Given the description of an element on the screen output the (x, y) to click on. 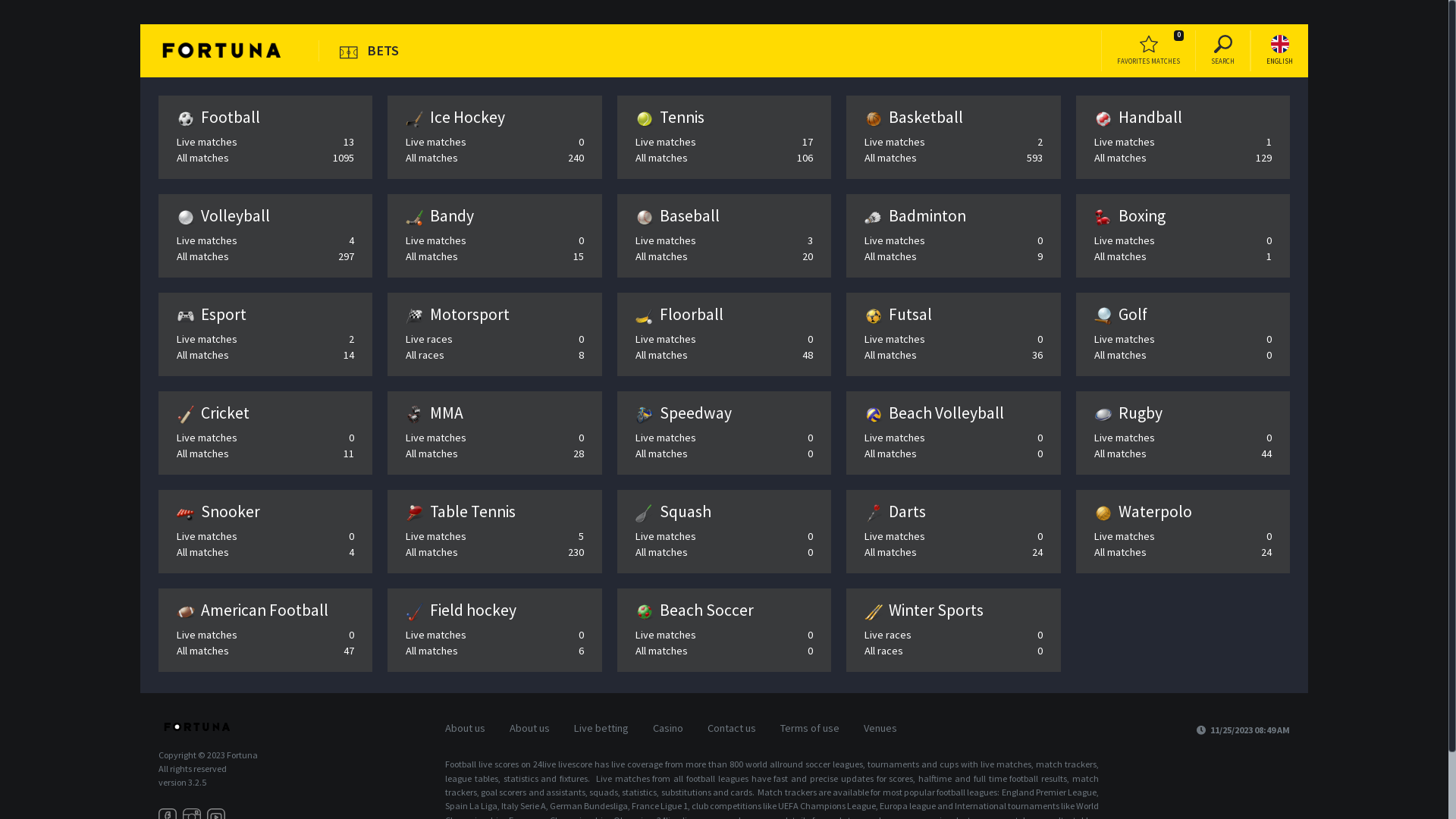
Baseball
Live matches
3
All matches
20 Element type: text (724, 235)
Venues Element type: text (880, 728)
Live betting Element type: text (600, 728)
ENGLISH Element type: text (1279, 50)
Handball
Live matches
1
All matches
129 Element type: text (1182, 136)
Snooker
Live matches
0
All matches
4 Element type: text (265, 531)
Golf
Live matches
0
All matches
0 Element type: text (1182, 334)
Badminton
Live matches
0
All matches
9 Element type: text (953, 235)
American Football
Live matches
0
All matches
47 Element type: text (265, 629)
Casino Element type: text (667, 728)
Speedway
Live matches
0
All matches
0 Element type: text (724, 432)
Football
Live matches
13
All matches
1095 Element type: text (265, 136)
Waterpolo
Live matches
0
All matches
24 Element type: text (1182, 531)
Cricket
Live matches
0
All matches
11 Element type: text (265, 432)
SEARCH Element type: text (1222, 50)
Beach Soccer
Live matches
0
All matches
0 Element type: text (724, 629)
About us Element type: text (465, 728)
Futsal
Live matches
0
All matches
36 Element type: text (953, 334)
MMA
Live matches
0
All matches
28 Element type: text (494, 432)
Contact us Element type: text (731, 728)
Basketball
Live matches
2
All matches
593 Element type: text (953, 136)
Bandy
Live matches
0
All matches
15 Element type: text (494, 235)
FAVORITES MATCHES
0 Element type: text (1148, 50)
About us Element type: text (529, 728)
Ice Hockey
Live matches
0
All matches
240 Element type: text (494, 136)
Winter Sports
Live races
0
All races
0 Element type: text (953, 629)
Volleyball
Live matches
4
All matches
297 Element type: text (265, 235)
Field hockey
Live matches
0
All matches
6 Element type: text (494, 629)
Squash
Live matches
0
All matches
0 Element type: text (724, 531)
Beach Volleyball
Live matches
0
All matches
0 Element type: text (953, 432)
Terms of use Element type: text (809, 728)
Motorsport
Live races
0
All races
8 Element type: text (494, 334)
Rugby
Live matches
0
All matches
44 Element type: text (1182, 432)
Boxing
Live matches
0
All matches
1 Element type: text (1182, 235)
Floorball
Live matches
0
All matches
48 Element type: text (724, 334)
Table Tennis
Live matches
5
All matches
230 Element type: text (494, 531)
Darts
Live matches
0
All matches
24 Element type: text (953, 531)
Esport
Live matches
2
All matches
14 Element type: text (265, 334)
Tennis
Live matches
17
All matches
106 Element type: text (724, 136)
BETS Element type: text (368, 50)
